Given the description of an element on the screen output the (x, y) to click on. 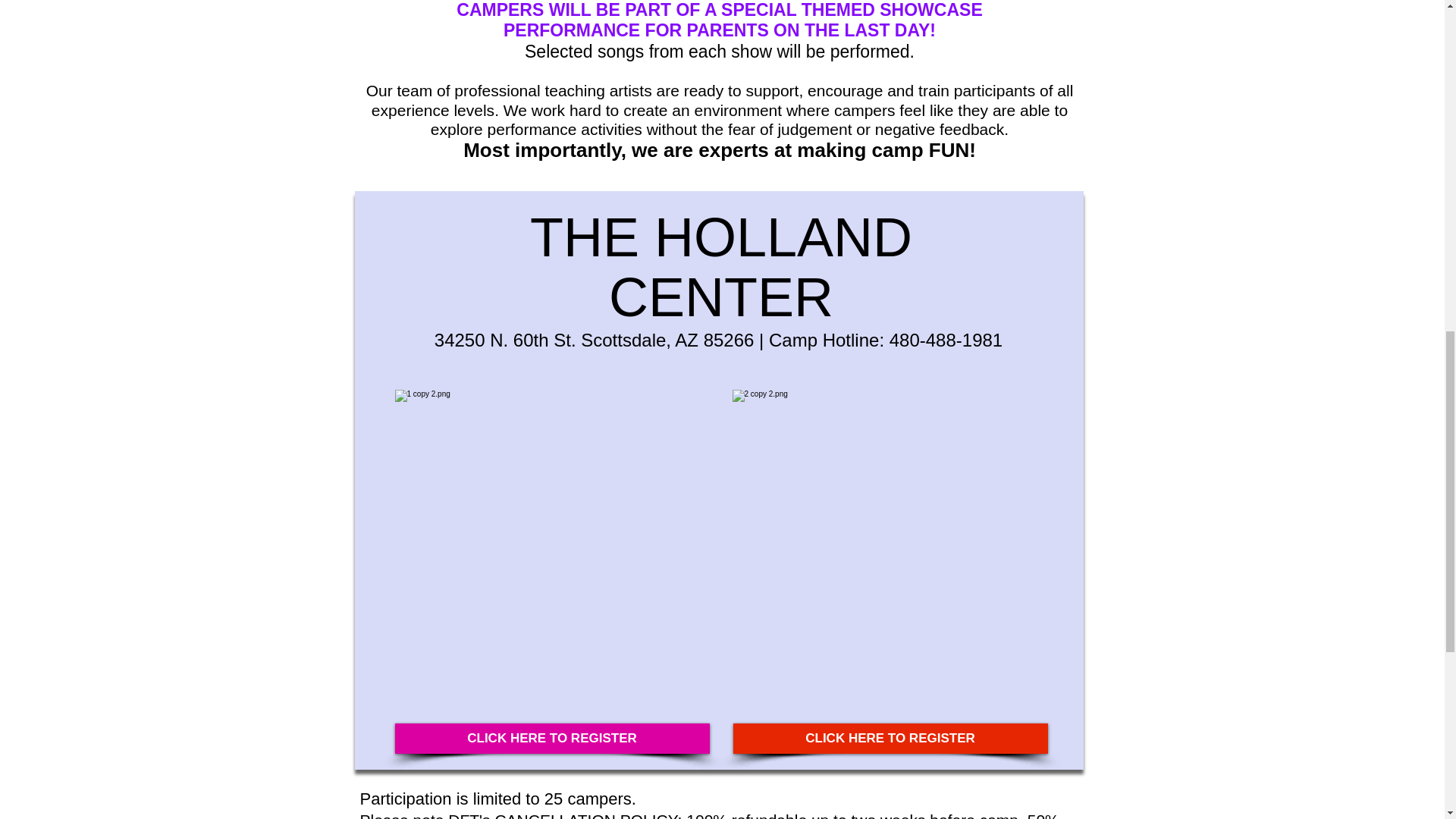
CLICK HERE TO REGISTER (551, 738)
CLICK HERE TO REGISTER (889, 738)
